Given the description of an element on the screen output the (x, y) to click on. 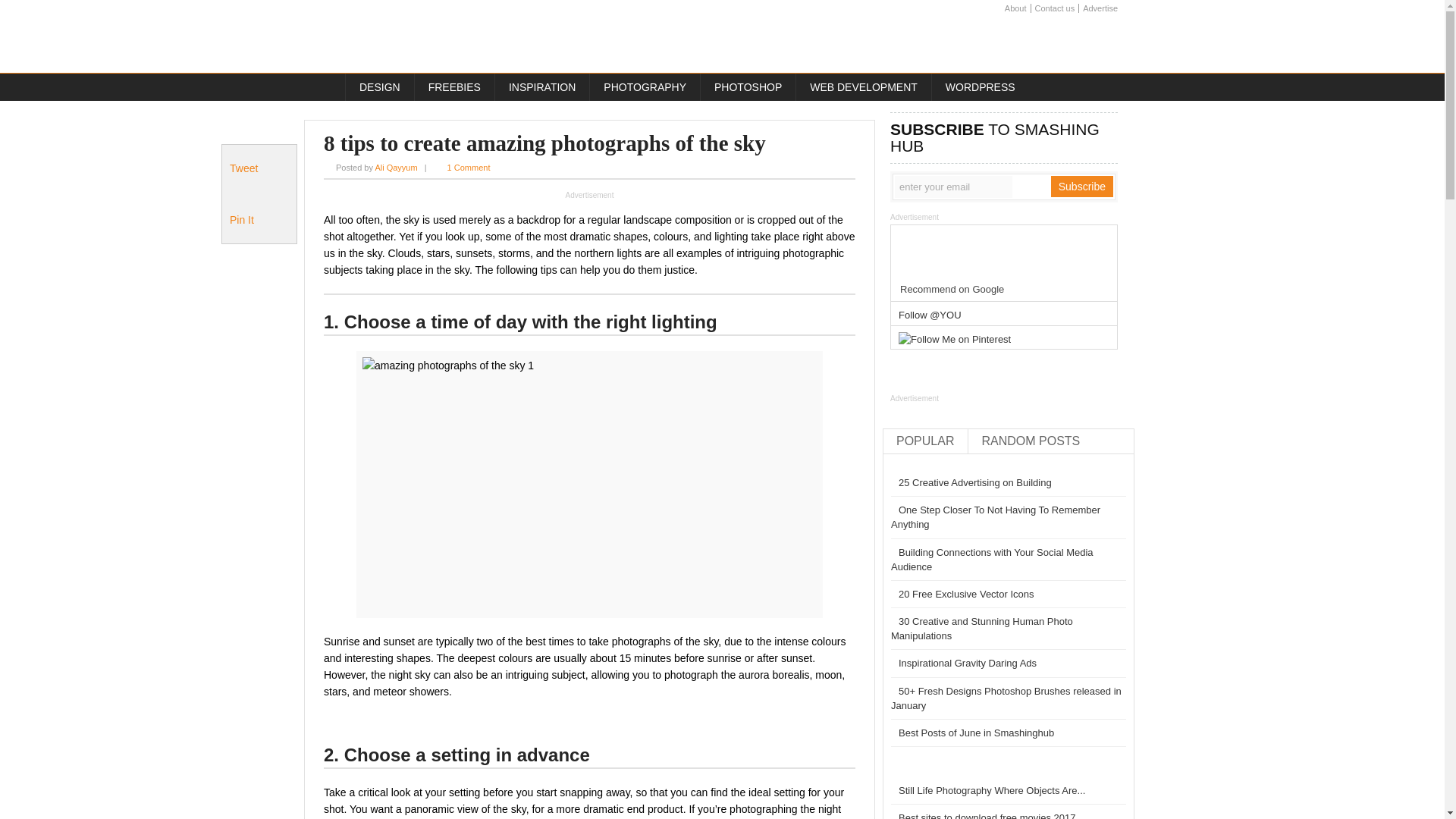
Twitter (1026, 42)
RSS (1106, 42)
DESIGN (379, 86)
Permalink to Inspirational Gravity Daring Ads (963, 663)
Permalink to Best Posts of June in Smashinghub (972, 732)
About Smashing Hub (1015, 8)
Google Plus (1080, 42)
FREEBIES (454, 86)
INSPIRATION (542, 86)
About (1015, 8)
HOME (324, 86)
Enter your email (953, 187)
Contact us (1054, 8)
Advertise (1099, 8)
